Given the description of an element on the screen output the (x, y) to click on. 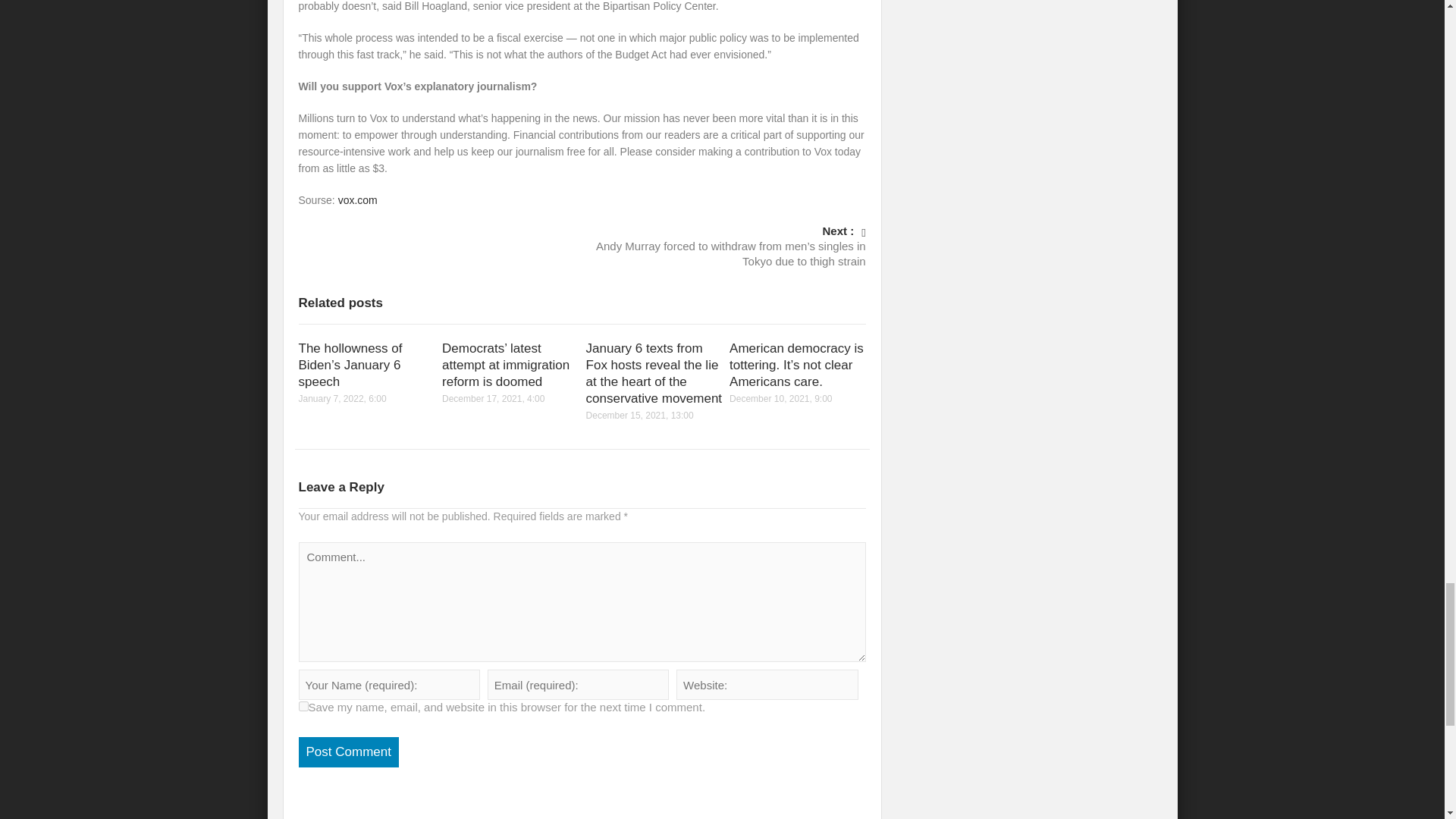
Post Comment (348, 752)
yes (303, 706)
